Given the description of an element on the screen output the (x, y) to click on. 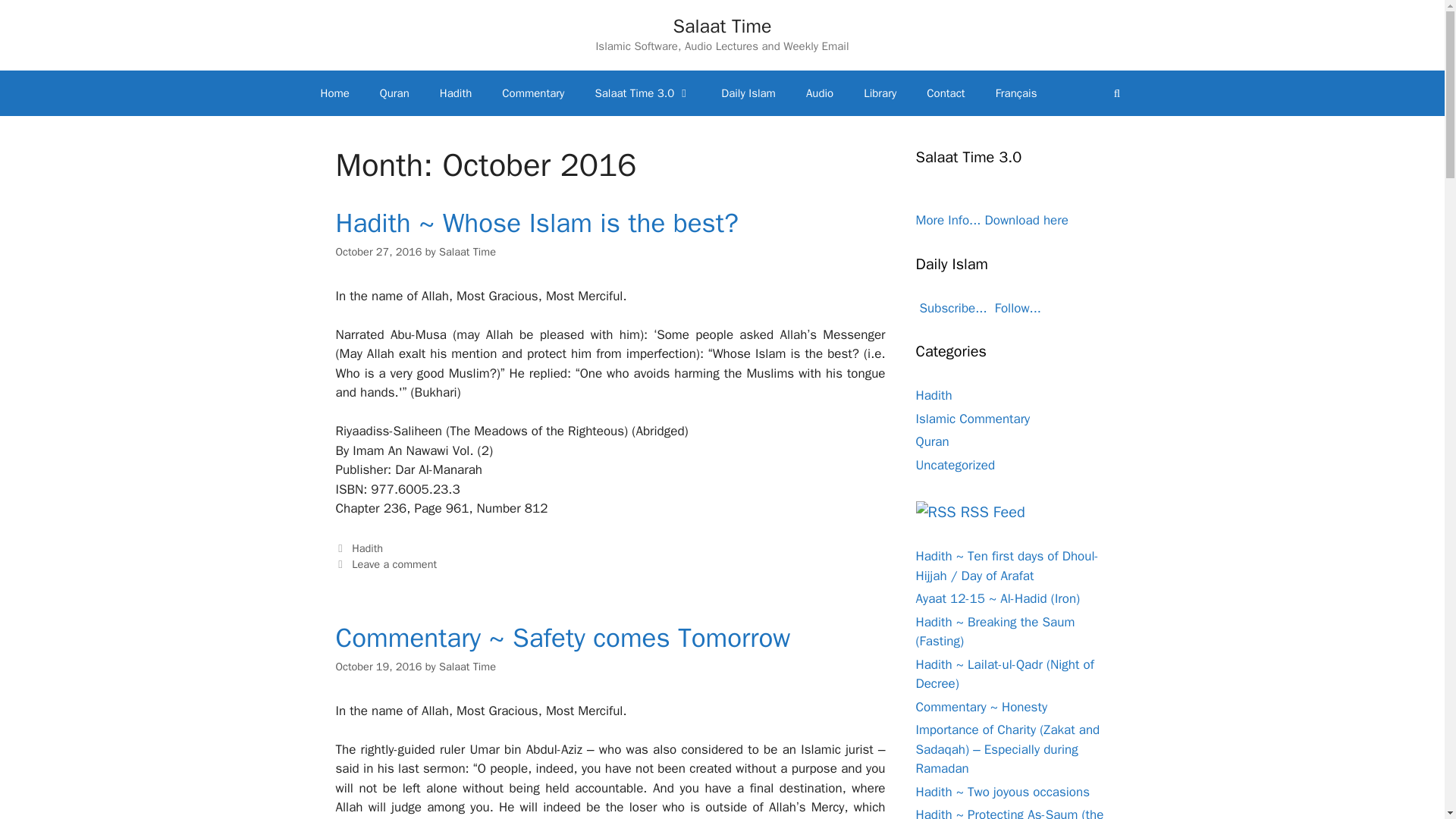
Salaat Time (467, 666)
Follow Us (1016, 308)
Quran (932, 441)
Subscribe (951, 308)
More Info (948, 220)
Subscribe... (951, 308)
Salaat Time 3.0 (642, 92)
Quran (395, 92)
View all posts by Salaat Time (467, 251)
Daily Islam (748, 92)
